Given the description of an element on the screen output the (x, y) to click on. 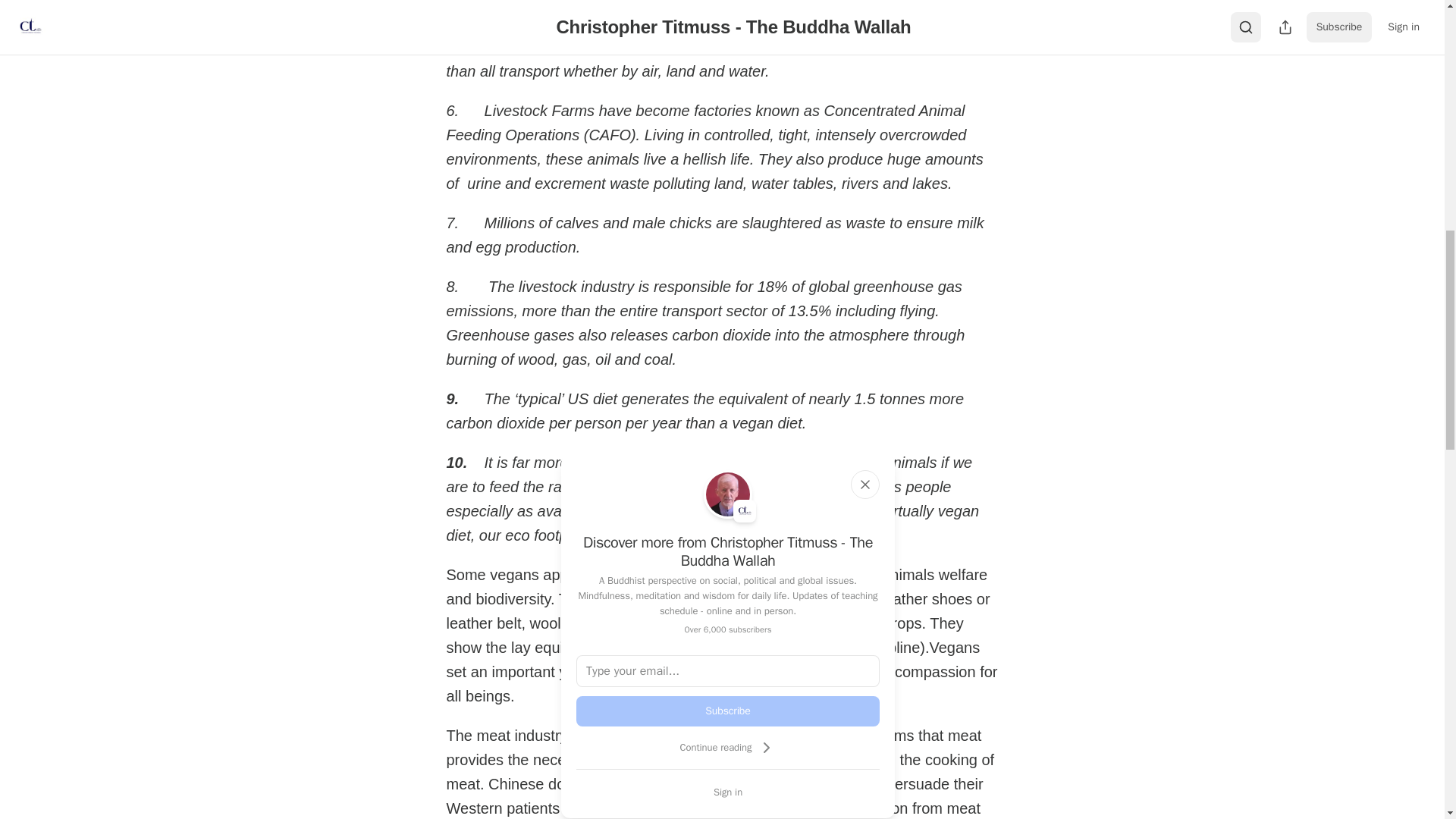
Subscribe (727, 711)
Sign in (727, 791)
